Given the description of an element on the screen output the (x, y) to click on. 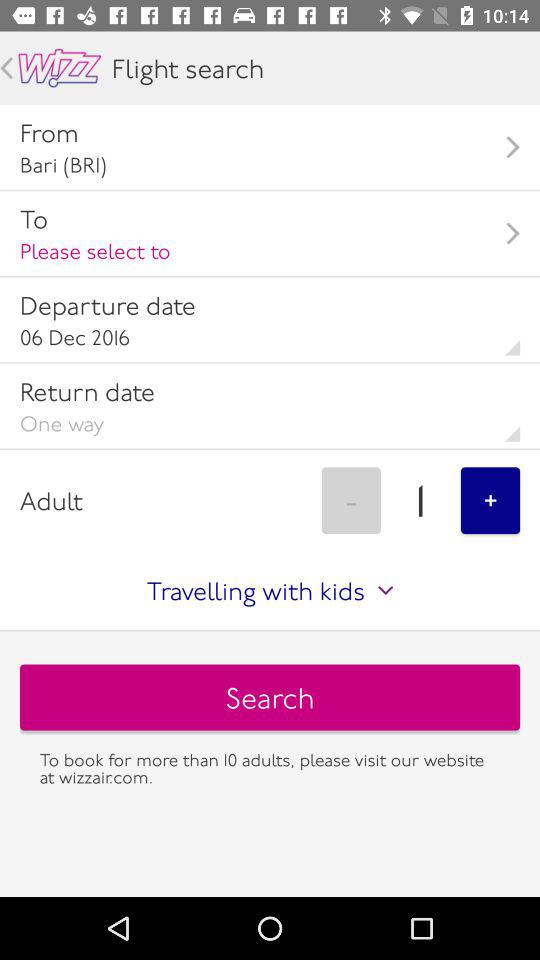
go back (59, 68)
